Given the description of an element on the screen output the (x, y) to click on. 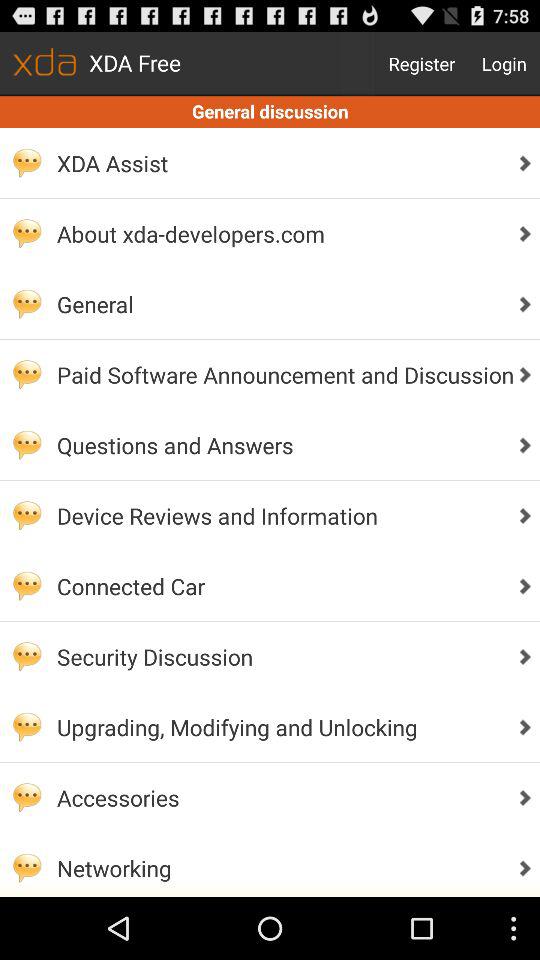
launch upgrading modifying and app (280, 726)
